Given the description of an element on the screen output the (x, y) to click on. 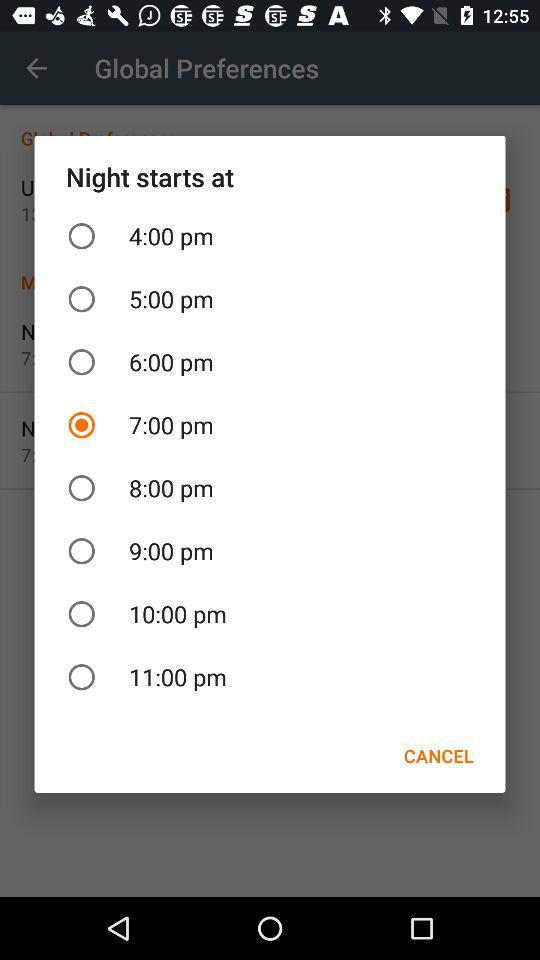
turn off item below the 11:00 pm item (438, 755)
